Given the description of an element on the screen output the (x, y) to click on. 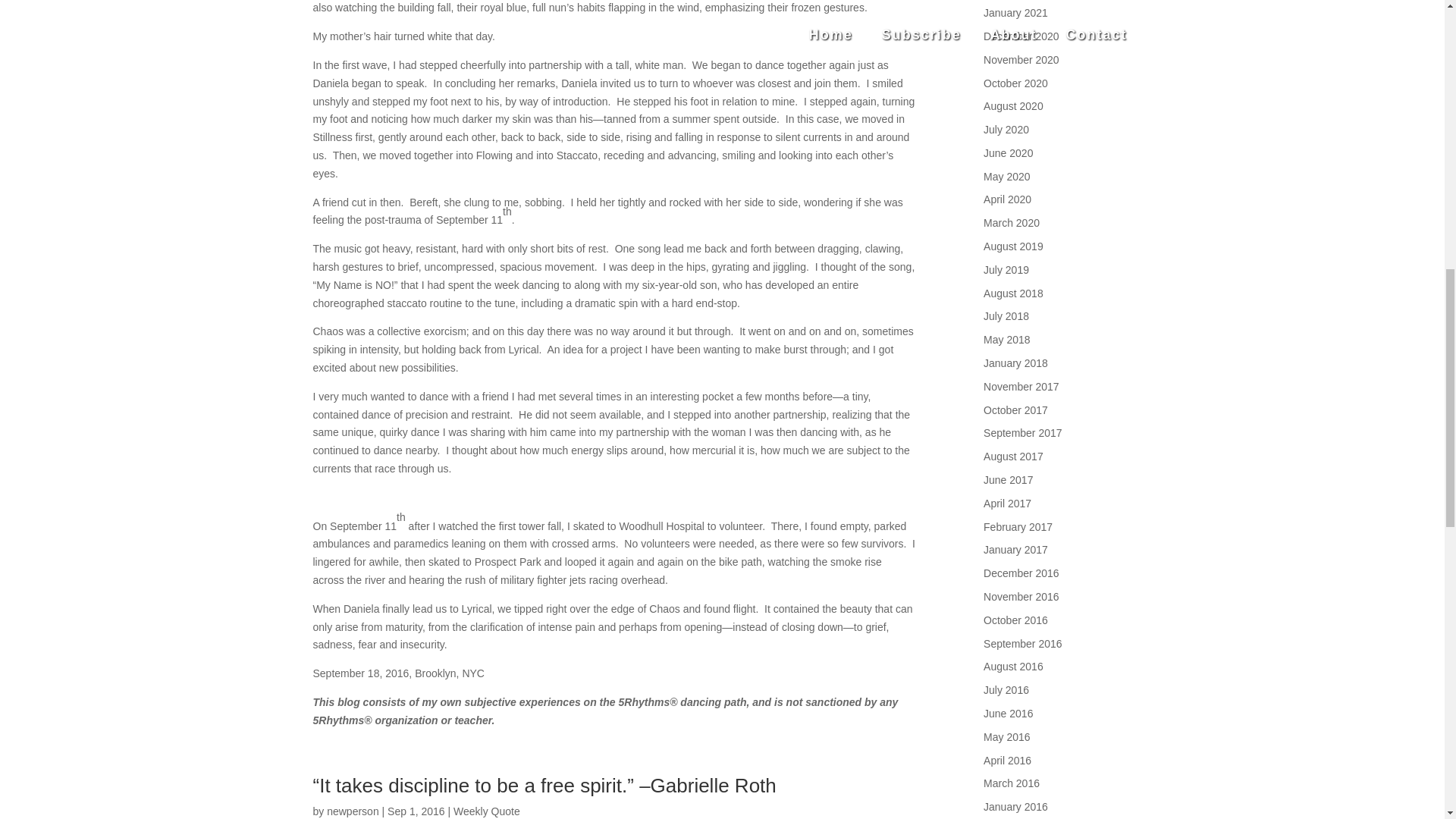
Weekly Quote (485, 811)
Posts by newperson (352, 811)
newperson (352, 811)
January 2021 (1016, 12)
